Given the description of an element on the screen output the (x, y) to click on. 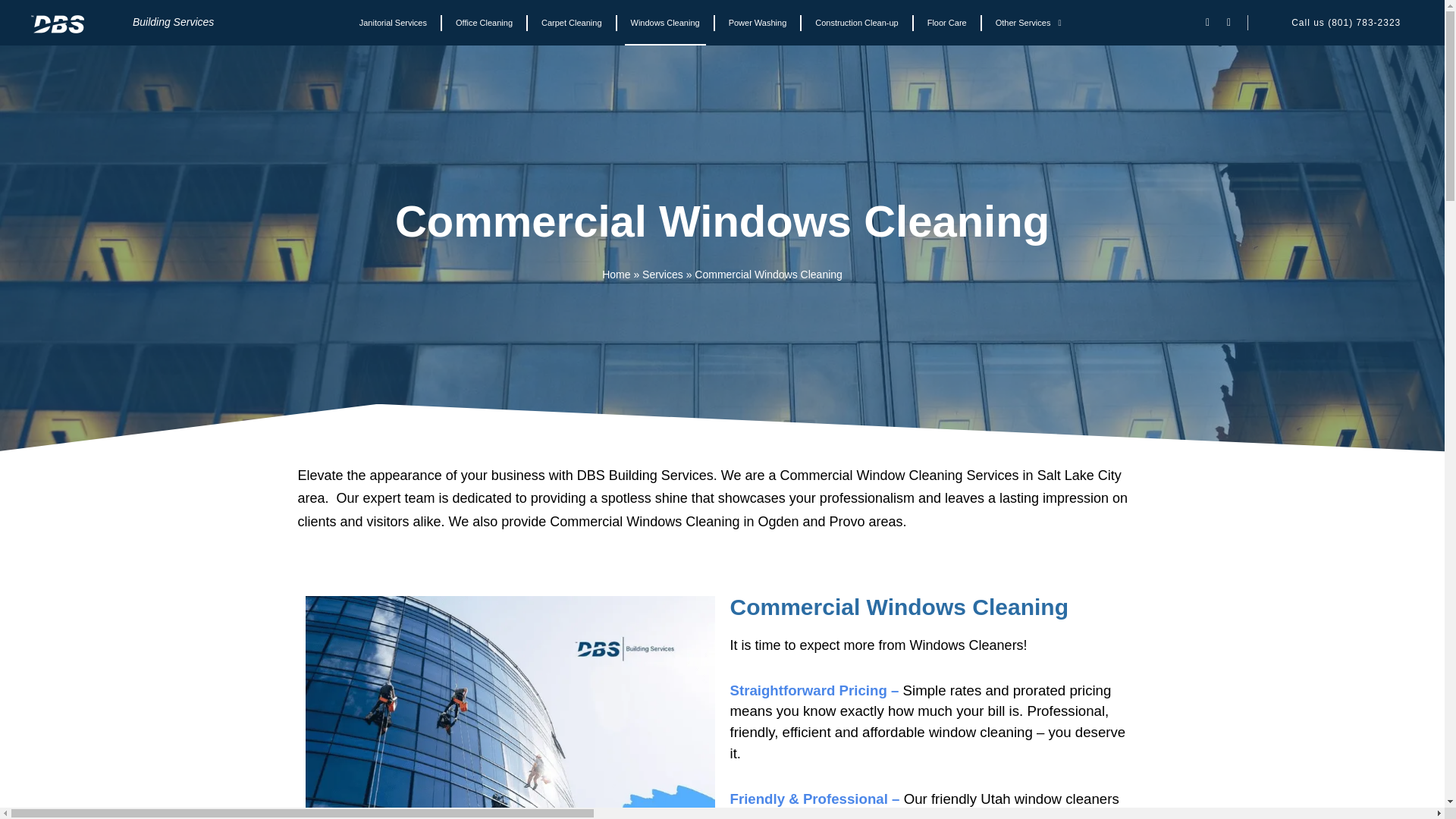
Floor Care (946, 22)
Janitorial Services (392, 22)
Other Services (1028, 22)
Windows Cleaning (665, 22)
Power Washing (757, 22)
unnamed (57, 24)
Construction Clean-up (856, 22)
Services (662, 274)
Carpet Cleaning (571, 22)
Home (616, 274)
Office Cleaning (483, 22)
